Given the description of an element on the screen output the (x, y) to click on. 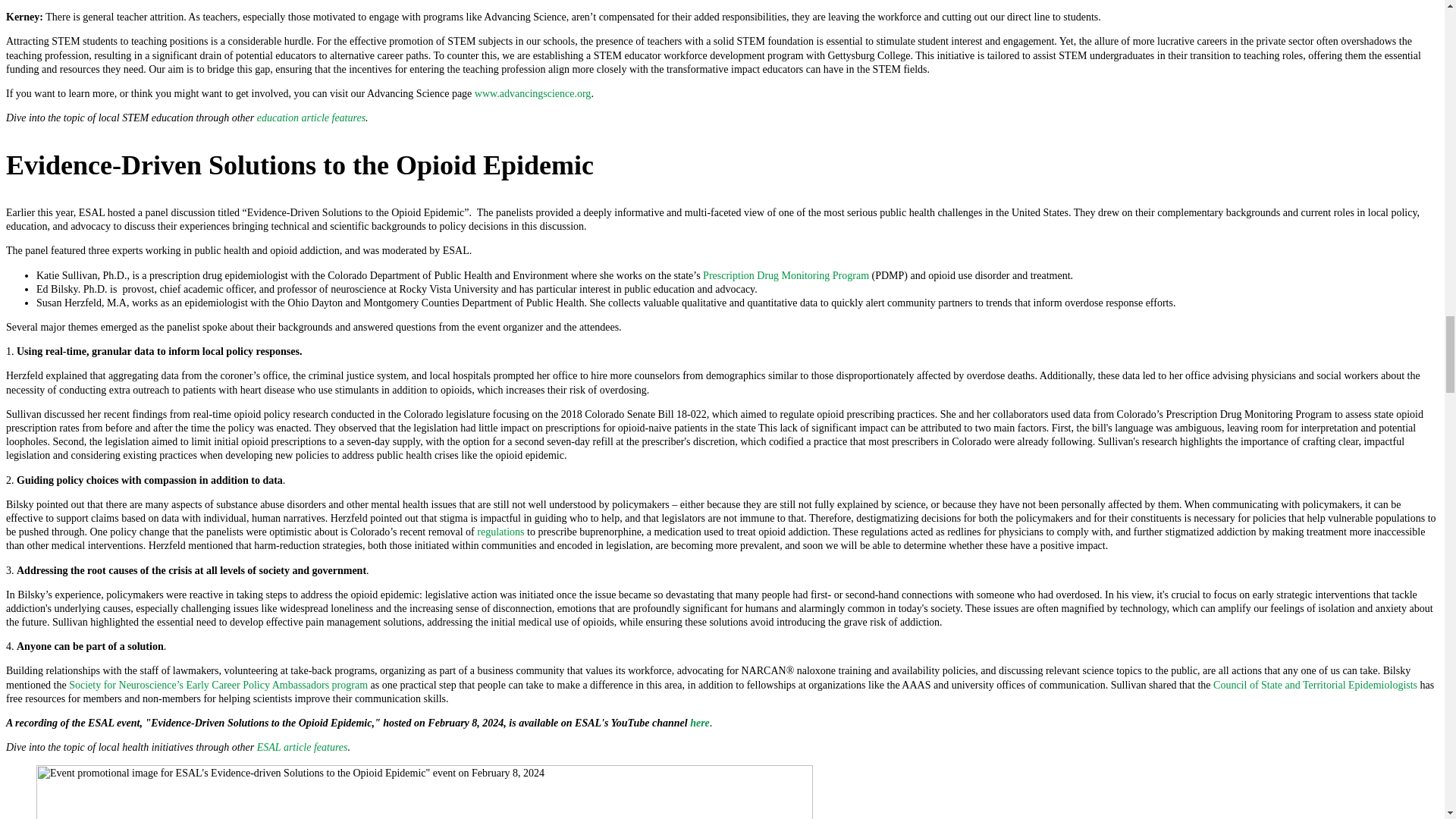
here (700, 722)
www.advancingscience.org (532, 93)
education article features (311, 117)
ESAL article features (302, 747)
regulations (500, 531)
Council of State and Territorial Epidemiologists (1314, 685)
Prescription Drug Monitoring Program (786, 275)
